Given the description of an element on the screen output the (x, y) to click on. 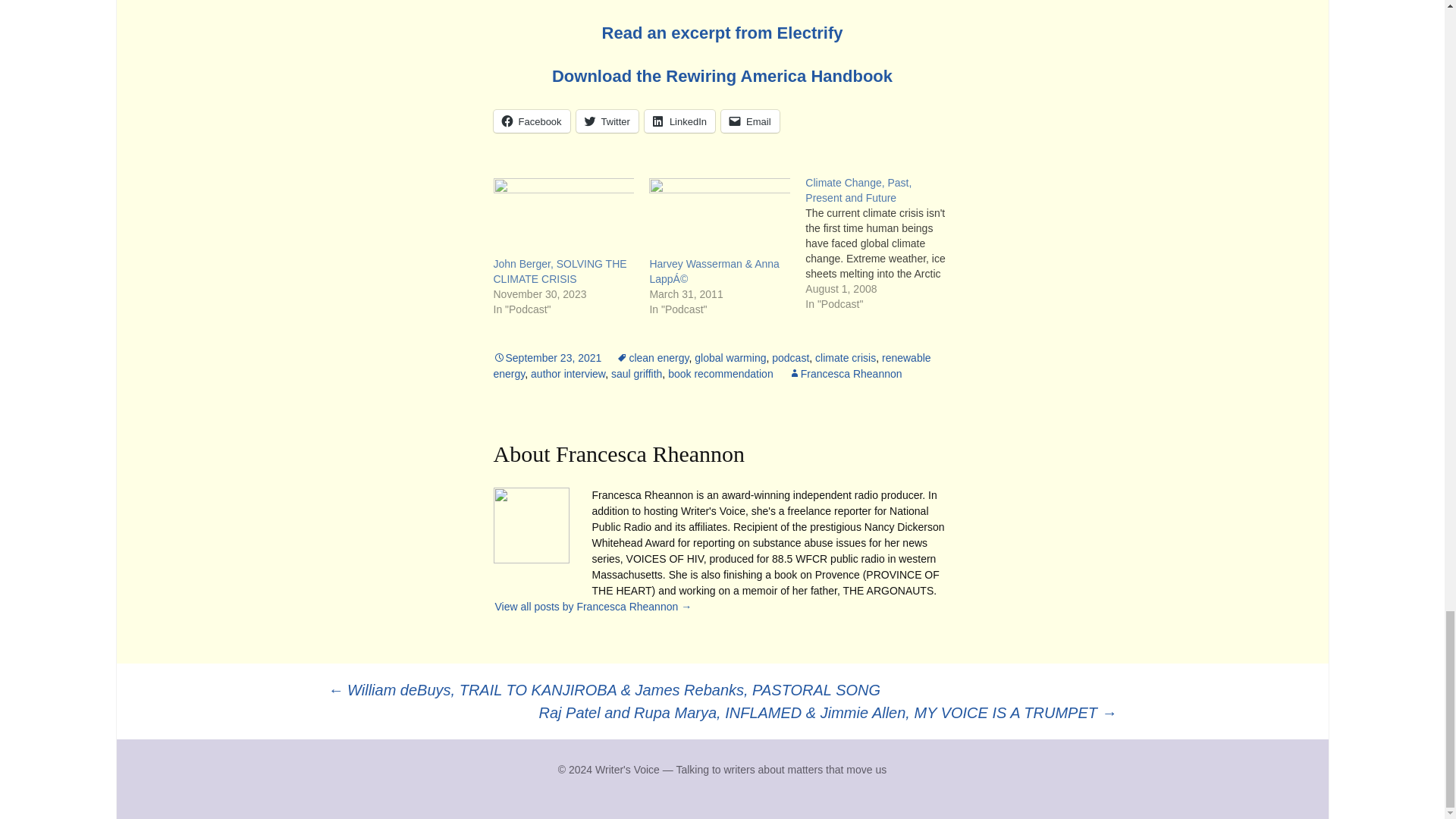
Click to email a link to a friend (749, 120)
Click to share on LinkedIn (679, 120)
Click to share on Twitter (607, 120)
Read an excerpt from Electrify (722, 32)
Click to share on Facebook (531, 120)
